Given the description of an element on the screen output the (x, y) to click on. 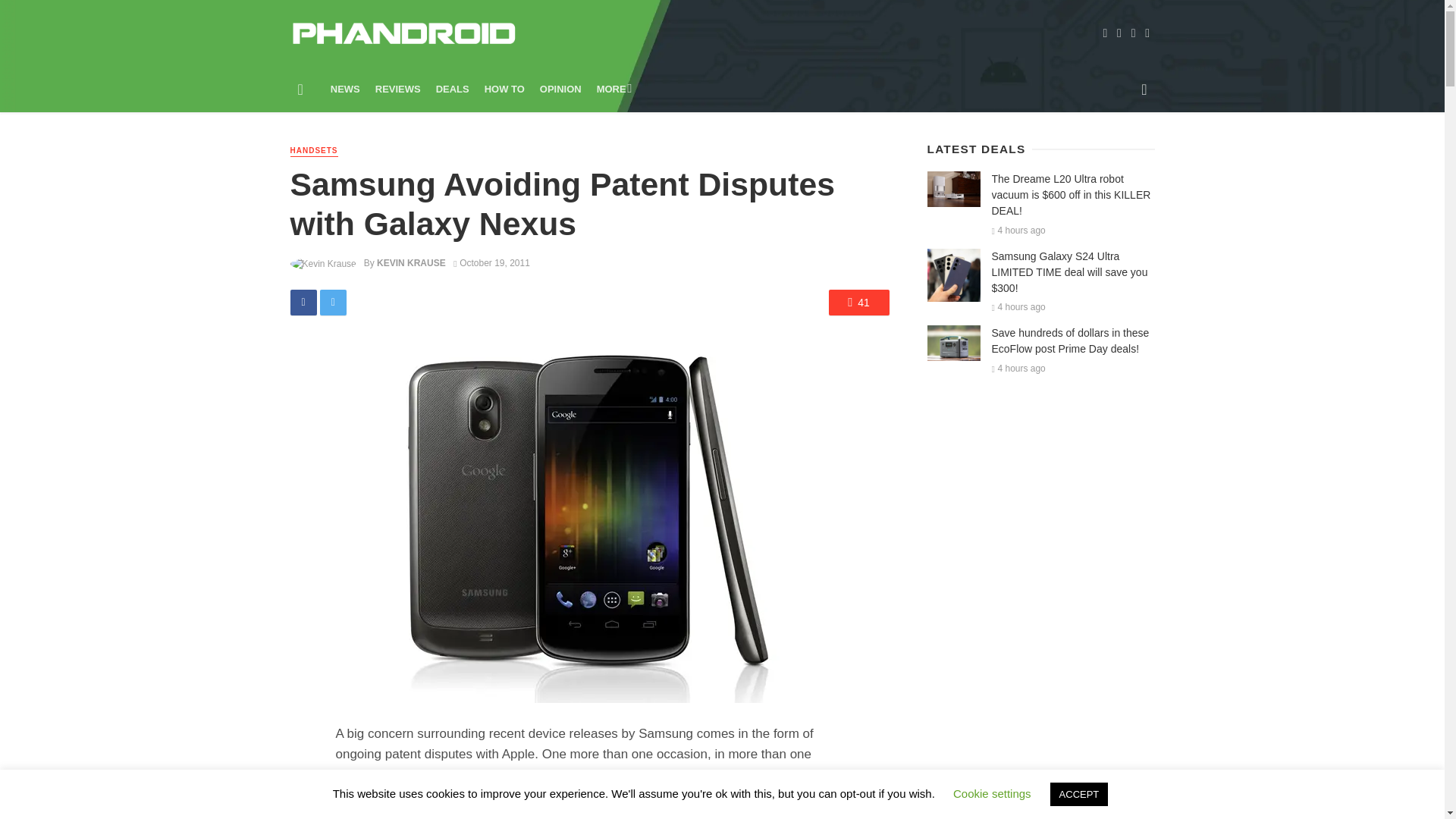
REVIEWS (398, 89)
Posts by Kevin Krause (411, 262)
DEALS (452, 89)
NEWS (345, 89)
October 19, 2011 at 3:56 pm (490, 262)
OPINION (560, 89)
MORE (612, 89)
HANDSETS (313, 151)
41 (858, 302)
KEVIN KRAUSE (411, 262)
HOW TO (504, 89)
